Given the description of an element on the screen output the (x, y) to click on. 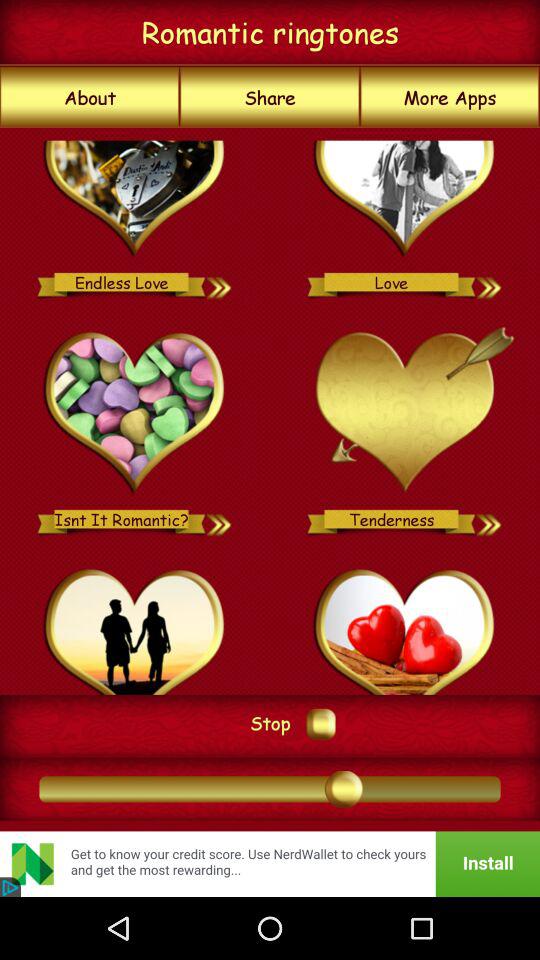
select icon to the left of the share (90, 97)
